Given the description of an element on the screen output the (x, y) to click on. 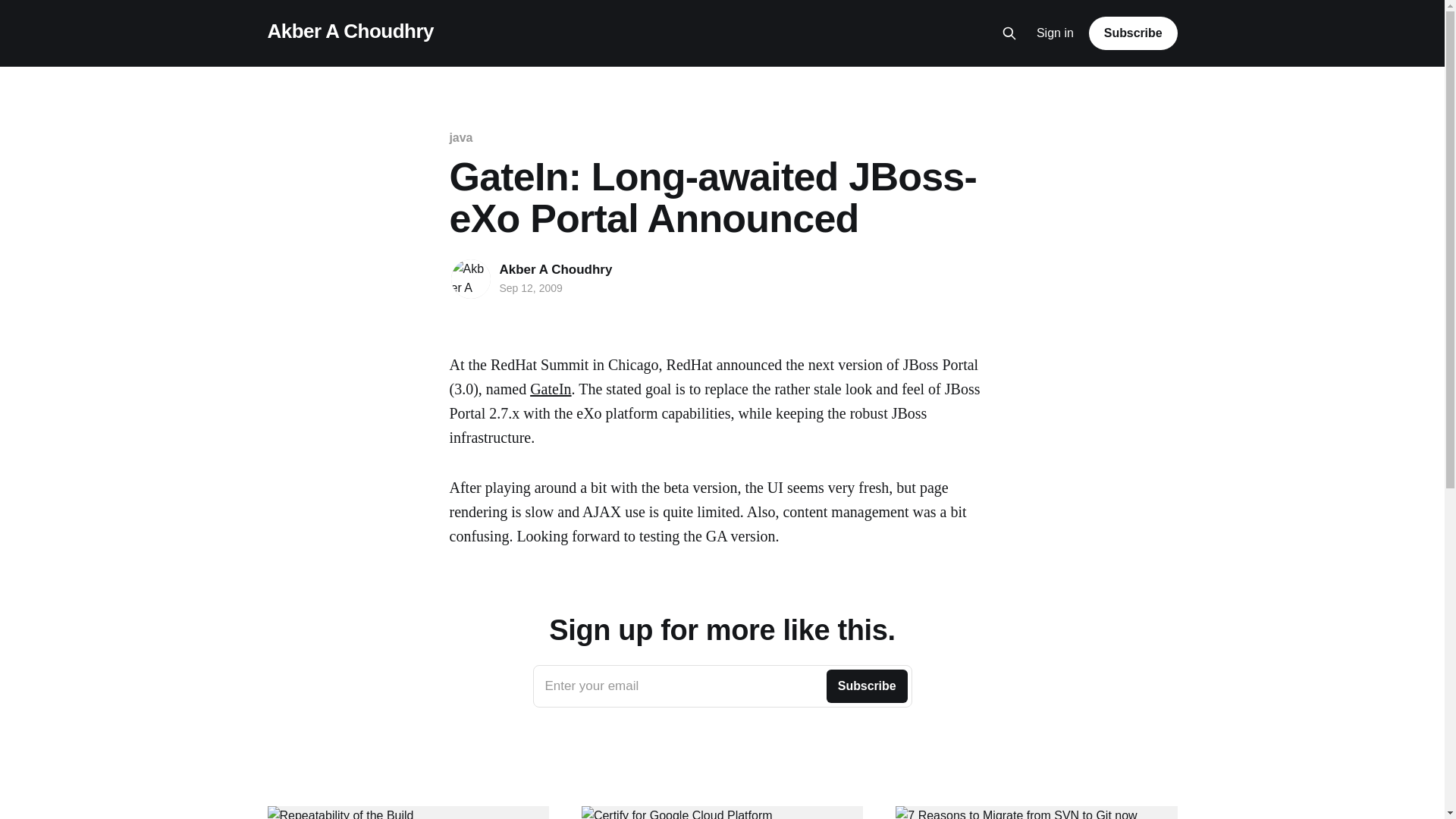
Akber A Choudhry (555, 269)
GateIn (549, 388)
Akber A Choudhry (349, 31)
Subscribe (721, 686)
Sign in (1133, 32)
java (1055, 33)
